Given the description of an element on the screen output the (x, y) to click on. 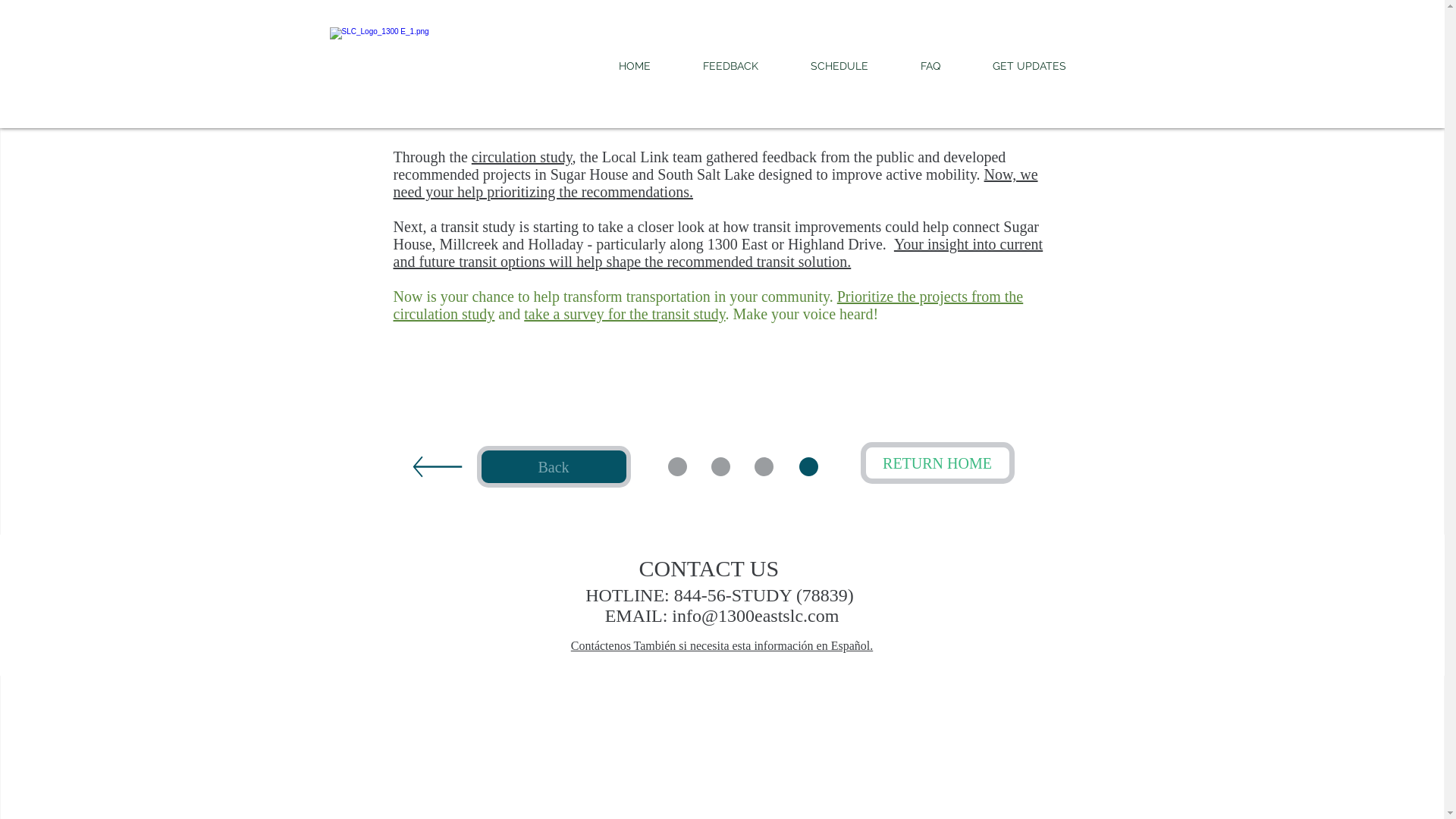
Prioritize the projects from the circulation study Element type: text (707, 305)
Back Element type: text (553, 466)
HOME Element type: text (635, 65)
GET UPDATES Element type: text (1029, 65)
RETURN HOME Element type: text (936, 462)
Now, we need your help prioritizing the recommendations. Element type: text (714, 183)
FAQ Element type: text (930, 65)
SCHEDULE Element type: text (839, 65)
take a survey for the transit study Element type: text (624, 313)
Click to return to the Local Link Study home page Element type: hover (450, 63)
circulation study Element type: text (521, 156)
EMAIL: info@1300eastslc.com Element type: text (722, 615)
FEEDBACK Element type: text (730, 65)
